Given the description of an element on the screen output the (x, y) to click on. 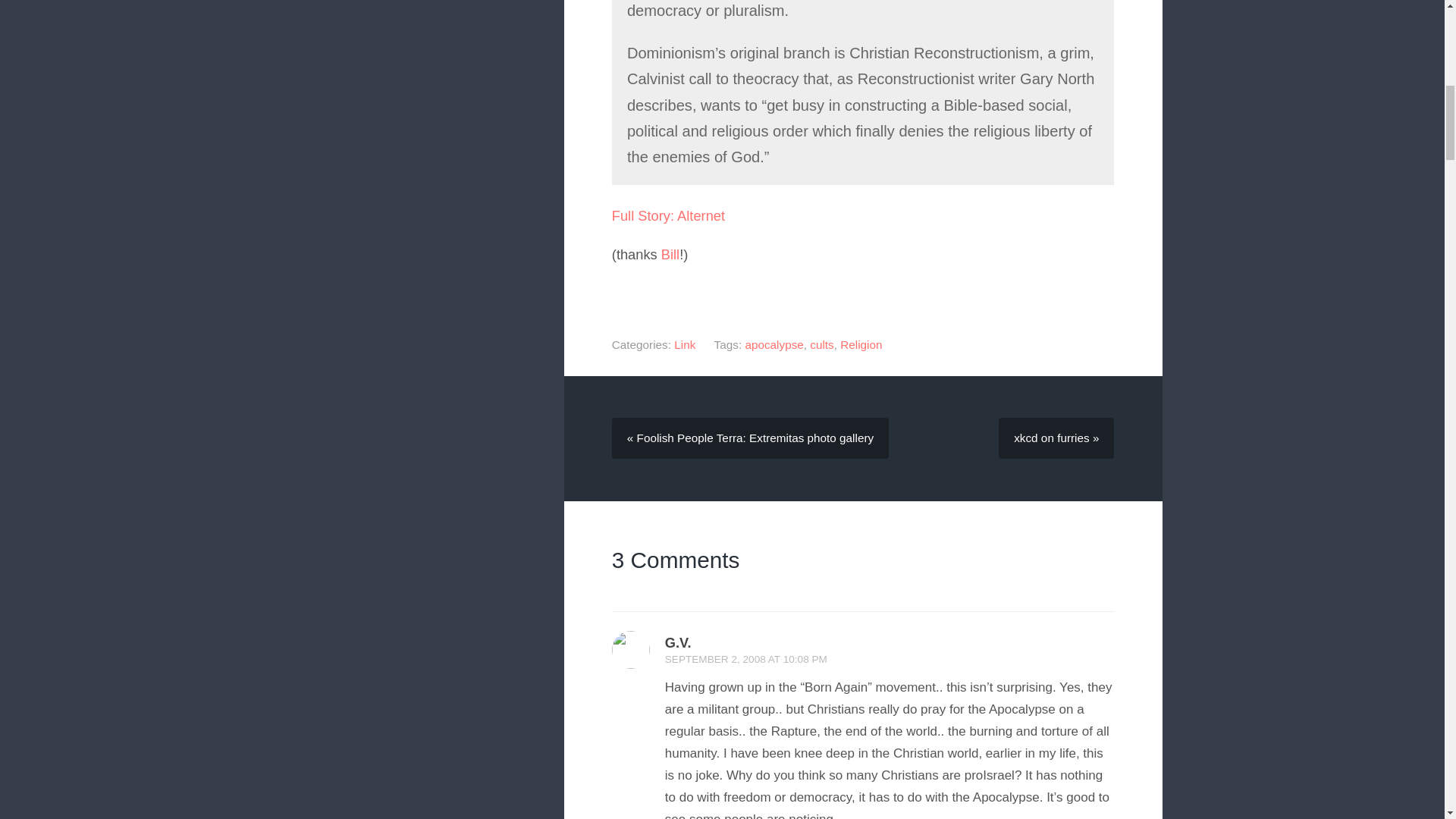
SEPTEMBER 2, 2008 AT 10:08 PM (746, 659)
Bill (670, 254)
apocalypse (773, 344)
Religion (861, 344)
Link (684, 344)
Full Story: Alternet (668, 215)
cults (820, 344)
Next post: xkcd on furries (1055, 437)
